Given the description of an element on the screen output the (x, y) to click on. 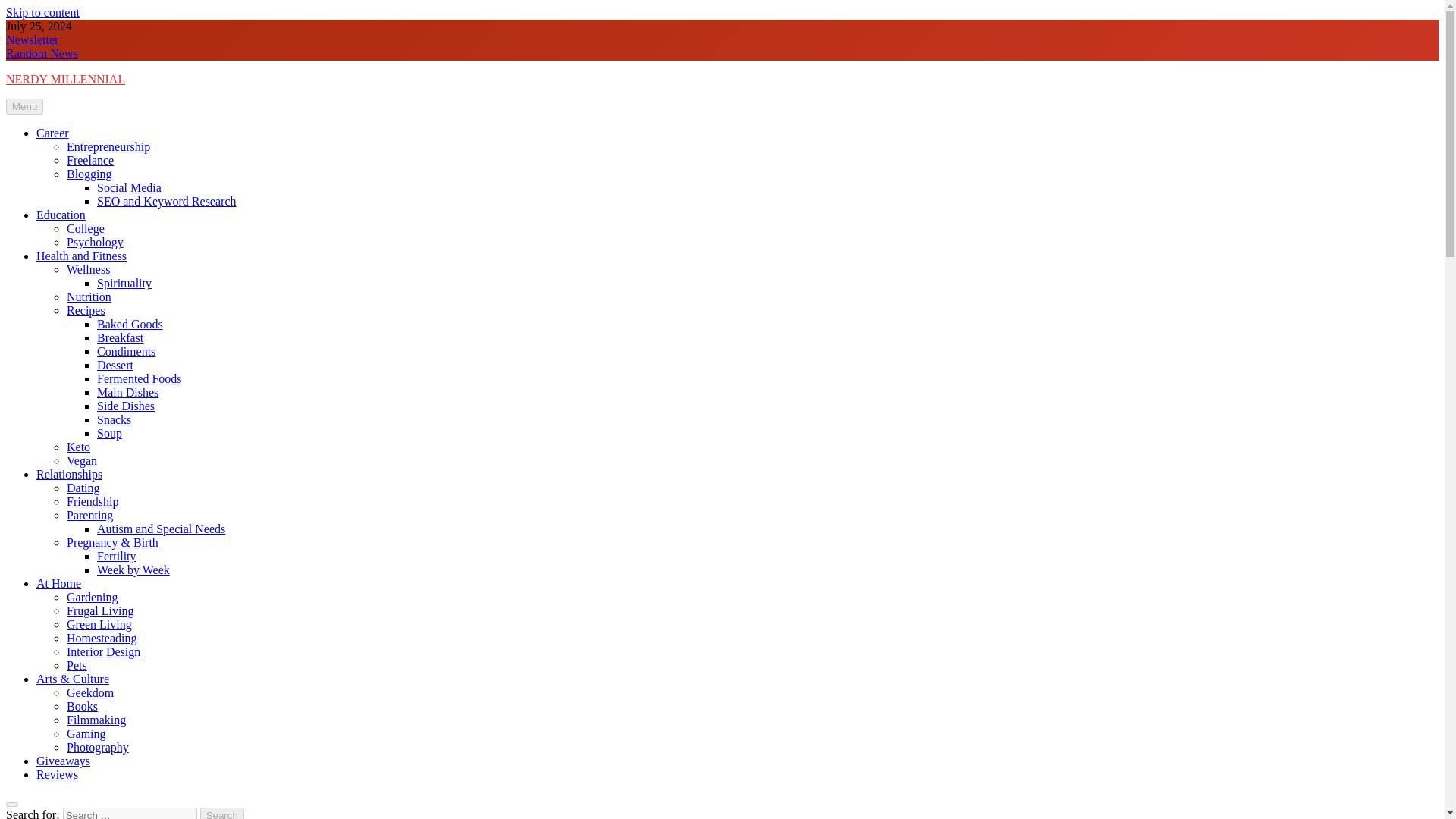
Entrepreneurship (107, 146)
Fermented Foods (139, 378)
Snacks (114, 419)
Dating (83, 487)
Friendship (91, 501)
Vegan (81, 460)
Nutrition (89, 296)
Blogging (89, 173)
Menu (24, 106)
Relationships (68, 473)
Breakfast (119, 337)
Dessert (115, 364)
Fertility (116, 555)
College (85, 228)
At Home (58, 583)
